Given the description of an element on the screen output the (x, y) to click on. 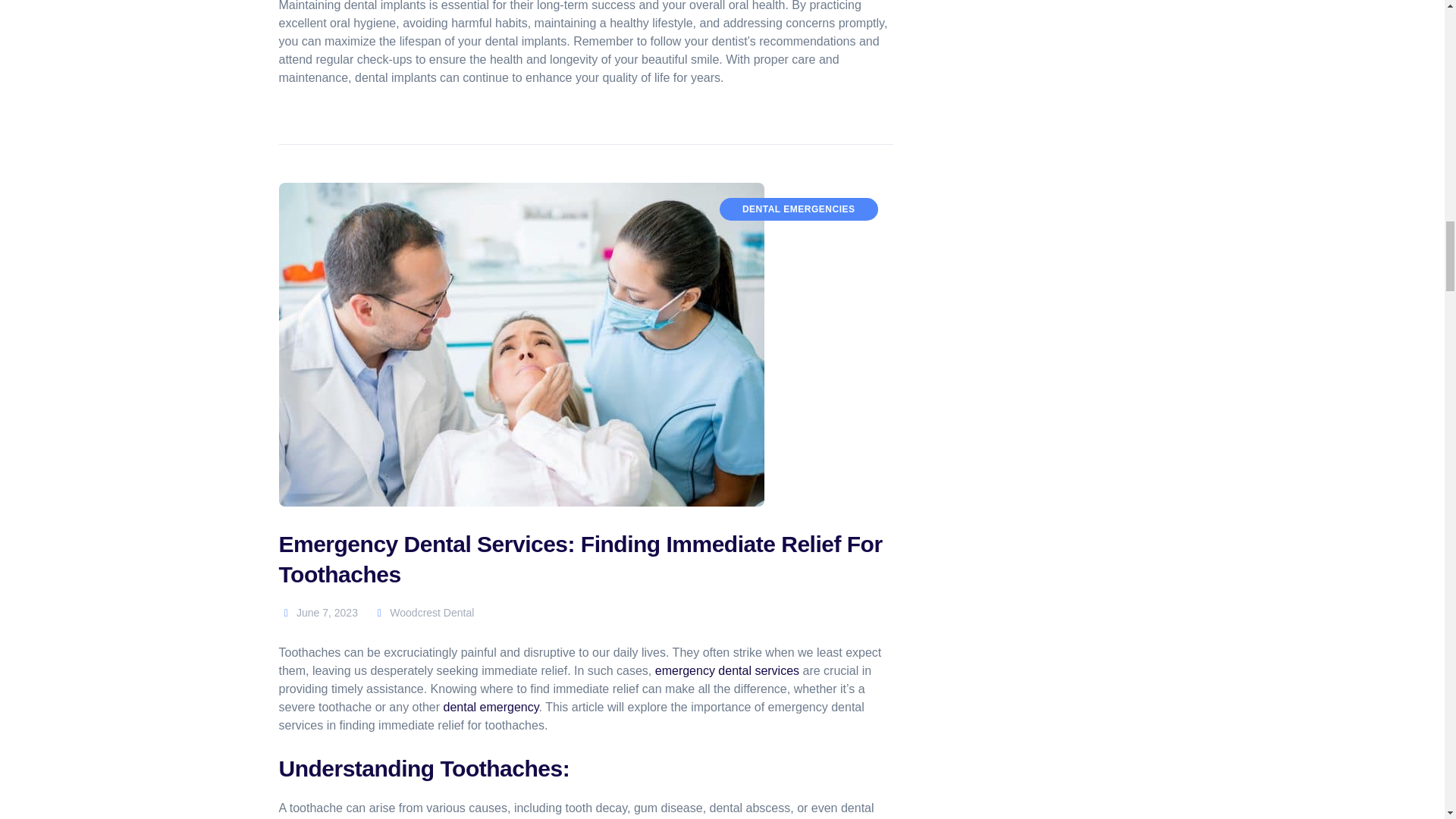
Posted by Woodcrest Dental (423, 612)
